Given the description of an element on the screen output the (x, y) to click on. 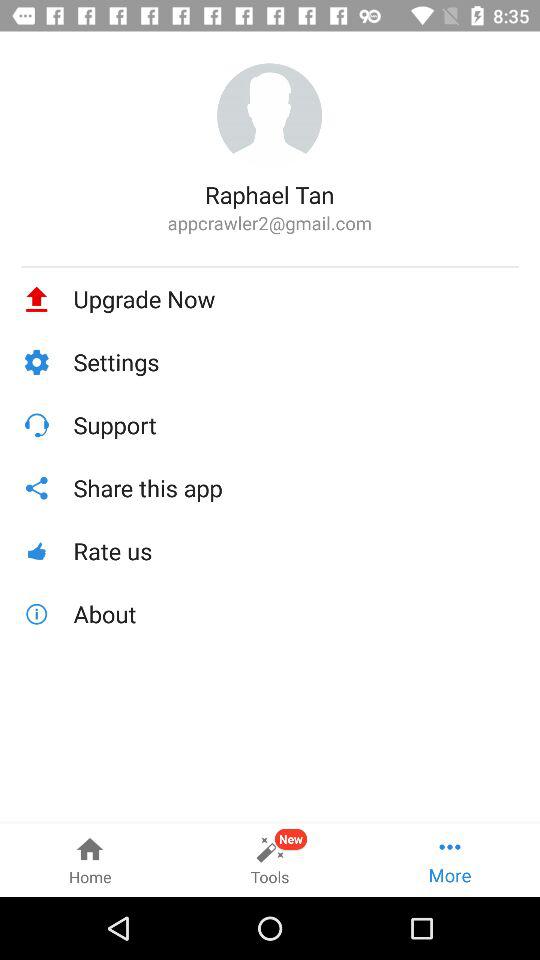
flip until raphael tan item (269, 194)
